Given the description of an element on the screen output the (x, y) to click on. 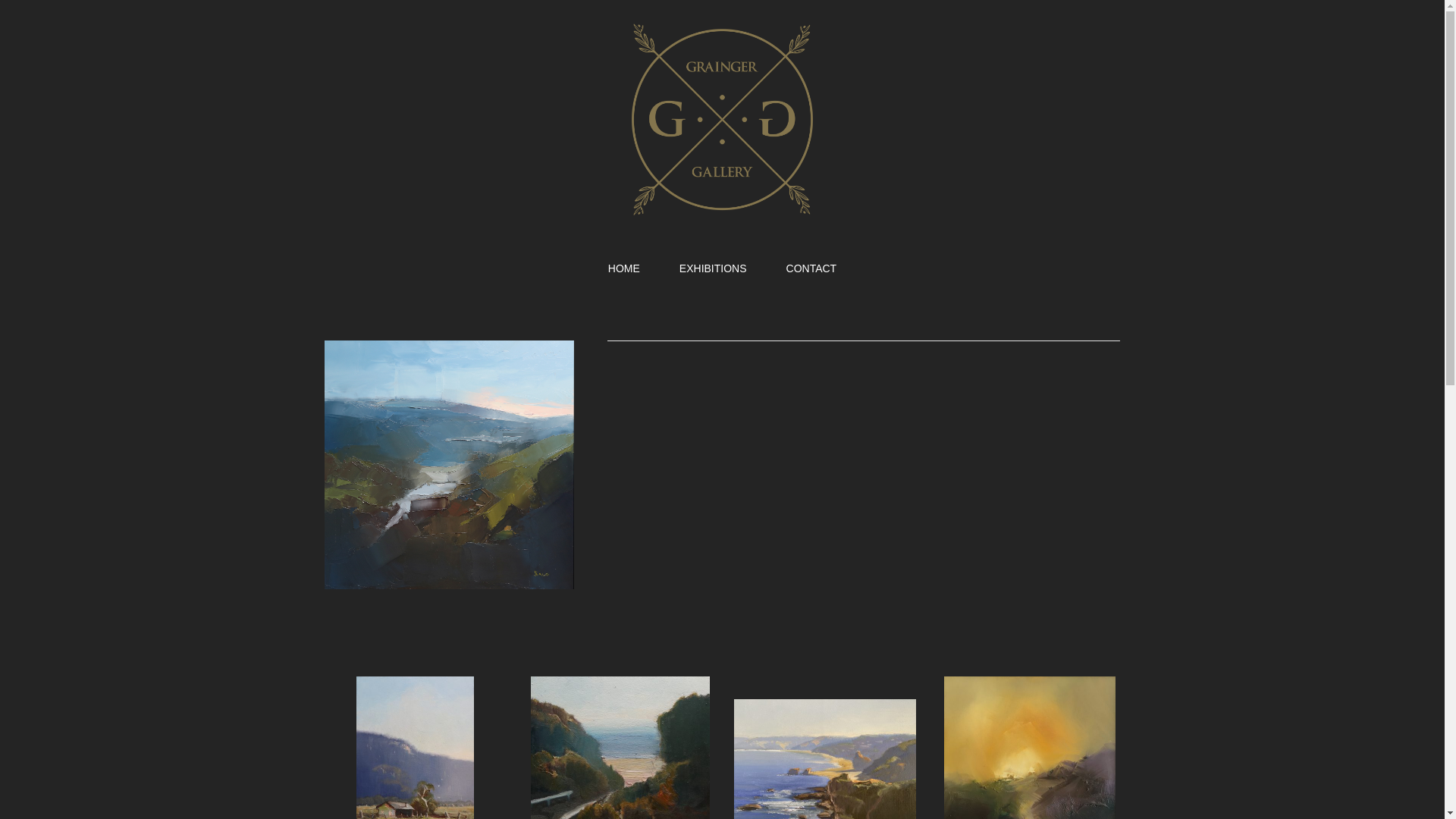
EXHIBITIONS (713, 267)
HOME (623, 267)
CONTACT (811, 267)
